Given the description of an element on the screen output the (x, y) to click on. 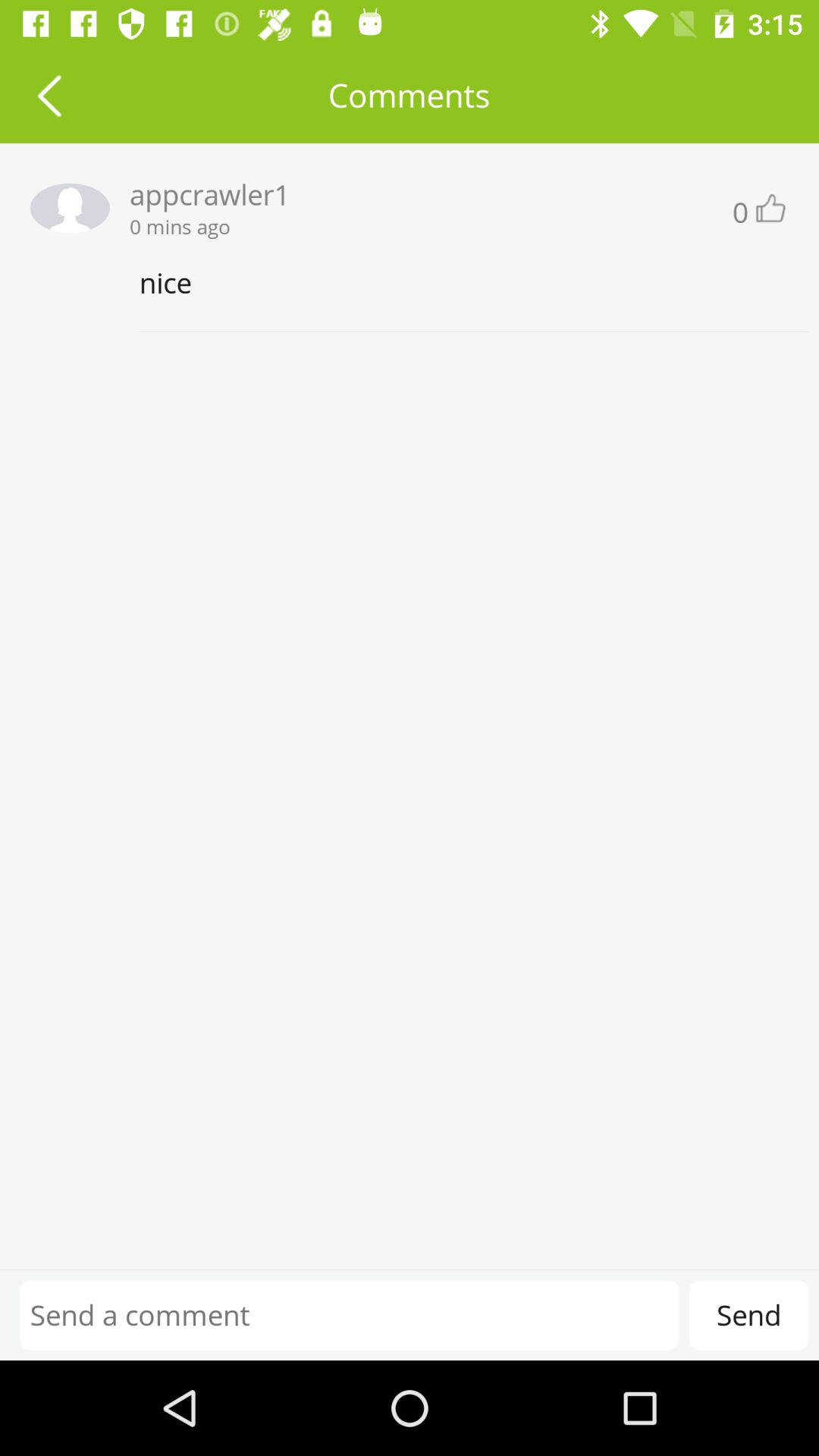
open icon next to send (349, 1315)
